Given the description of an element on the screen output the (x, y) to click on. 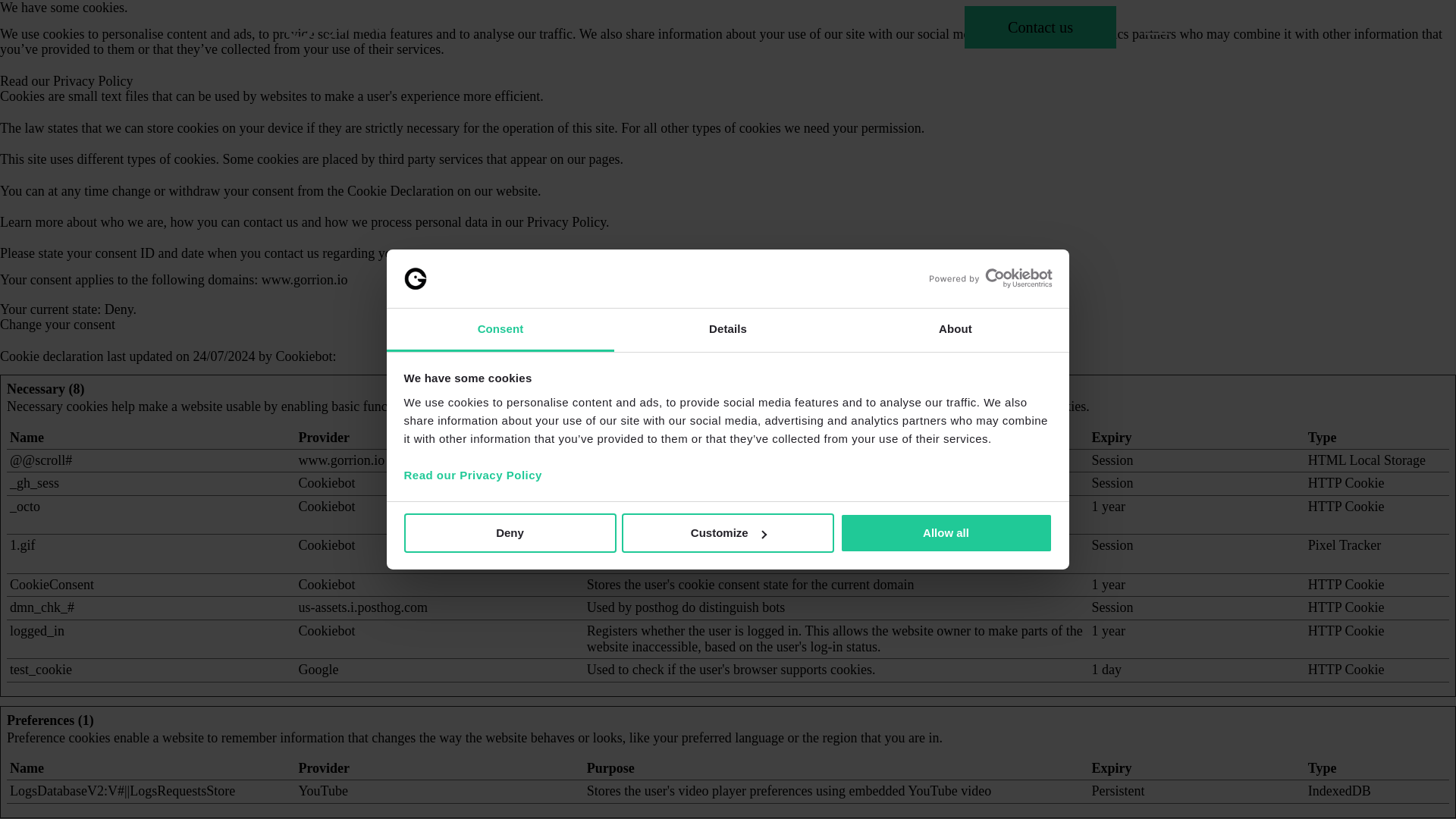
Change your consent (57, 324)
Cookiebot (326, 482)
Cookiebot's privacy policy (326, 630)
Cookiebot (326, 630)
YouTube (322, 790)
Cookiebot (326, 584)
Google (317, 669)
Google's privacy policy (317, 669)
Read our Privacy Policy (66, 80)
Cookiebot (303, 355)
Cookiebot (326, 506)
Cookiebot's privacy policy (326, 584)
Cookiebot (326, 544)
Cookiebot's privacy policy (326, 544)
Cookiebot's privacy policy (326, 482)
